Given the description of an element on the screen output the (x, y) to click on. 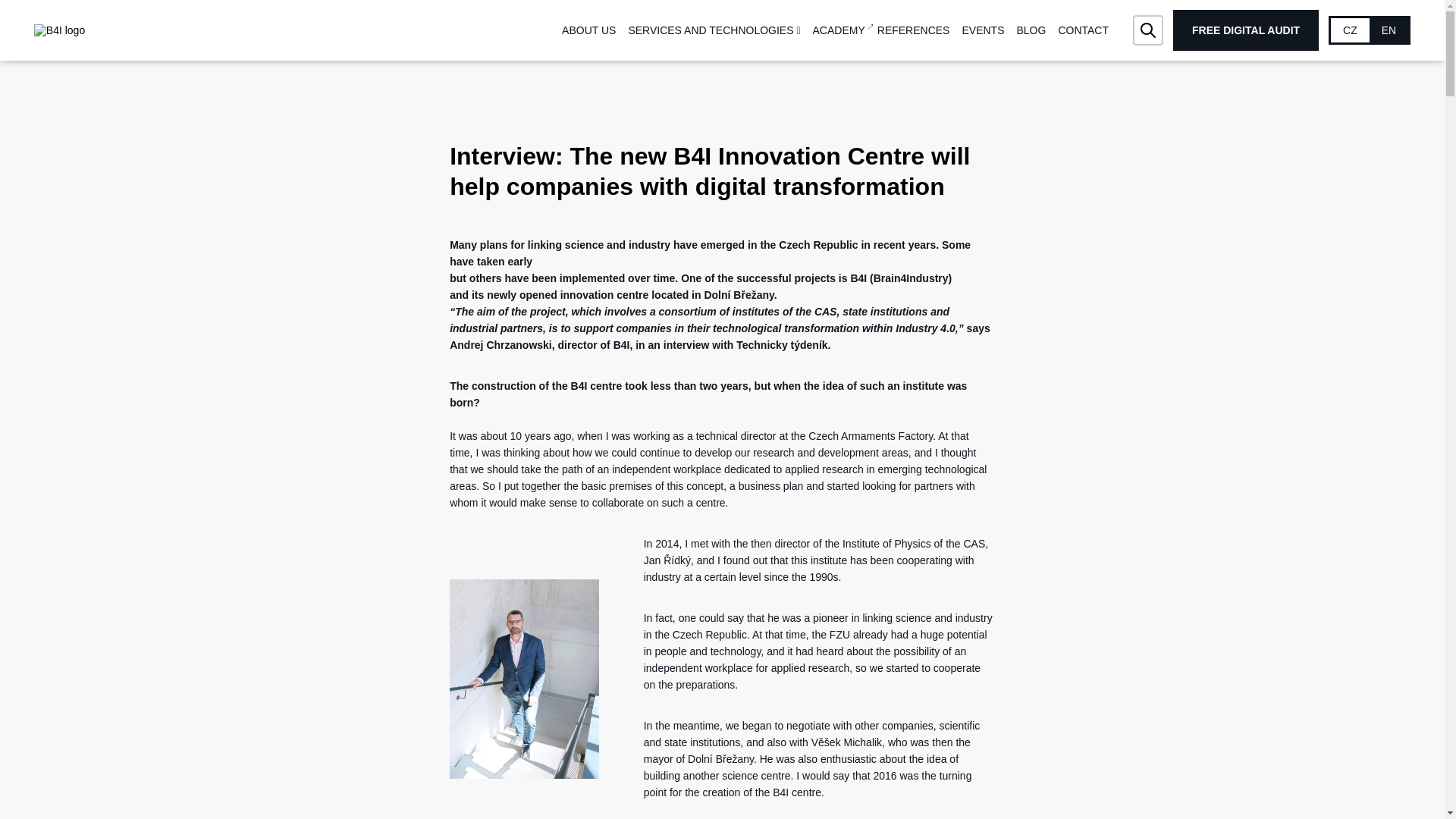
ACADEMY (838, 30)
CONTACT (1083, 30)
FREE DIGITAL AUDIT (1246, 29)
SERVICES AND TECHNOLOGIES (713, 30)
EVENTS (982, 30)
BLOG (1030, 30)
ABOUT US (588, 30)
REFERENCES (913, 30)
Search (1147, 30)
